Given the description of an element on the screen output the (x, y) to click on. 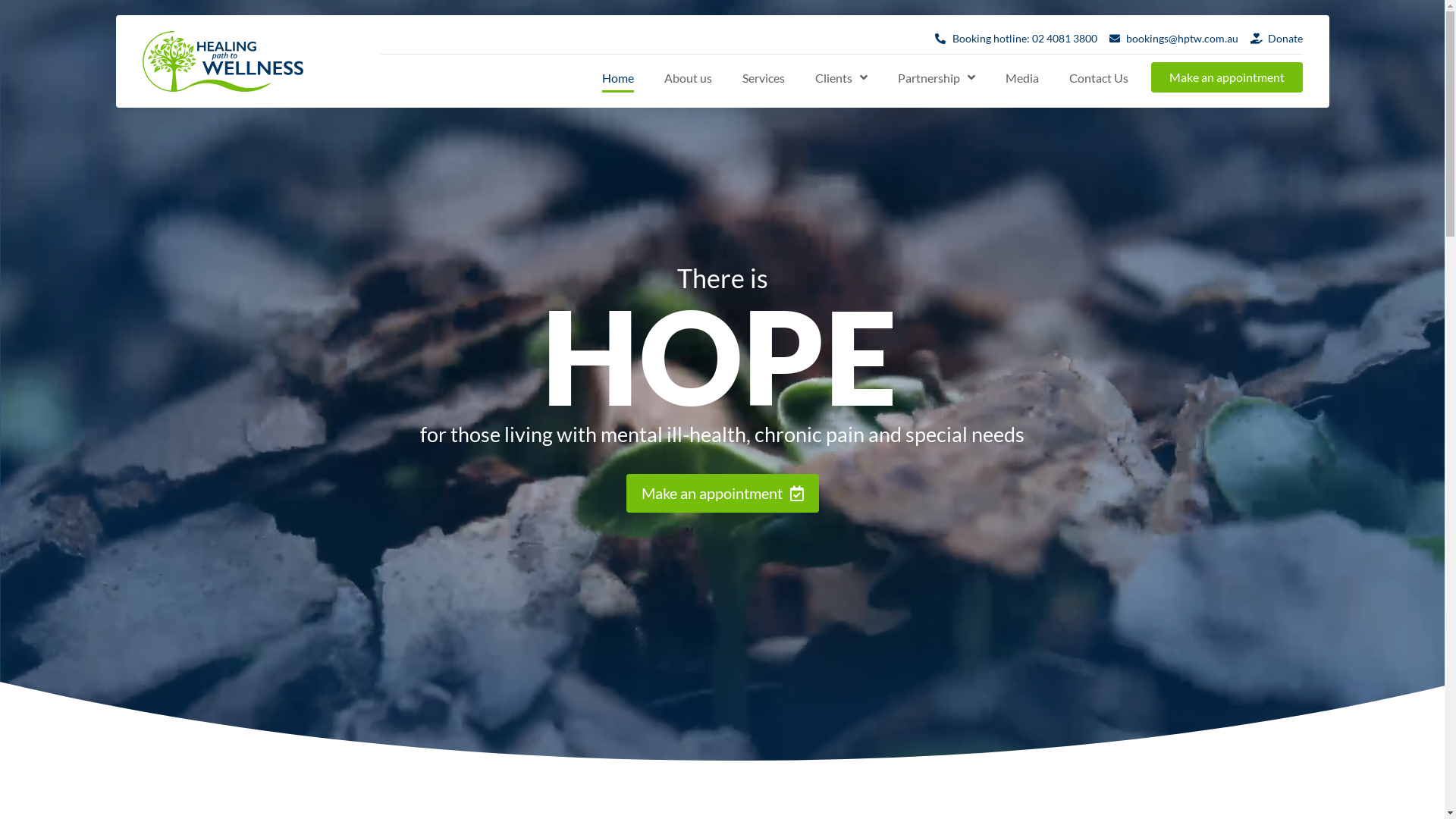
Make an appointment Element type: text (722, 492)
Booking hotline: 02 4081 3800 Element type: text (1016, 38)
About us Element type: text (688, 76)
Services Element type: text (762, 76)
Partnership Element type: text (936, 76)
Media Element type: text (1021, 76)
Donate Element type: text (1276, 38)
Make an appointment Element type: text (1226, 77)
bookings@hptw.com.au Element type: text (1173, 38)
Contact Us Element type: text (1098, 76)
Clients Element type: text (840, 76)
Home Element type: text (617, 76)
